Given the description of an element on the screen output the (x, y) to click on. 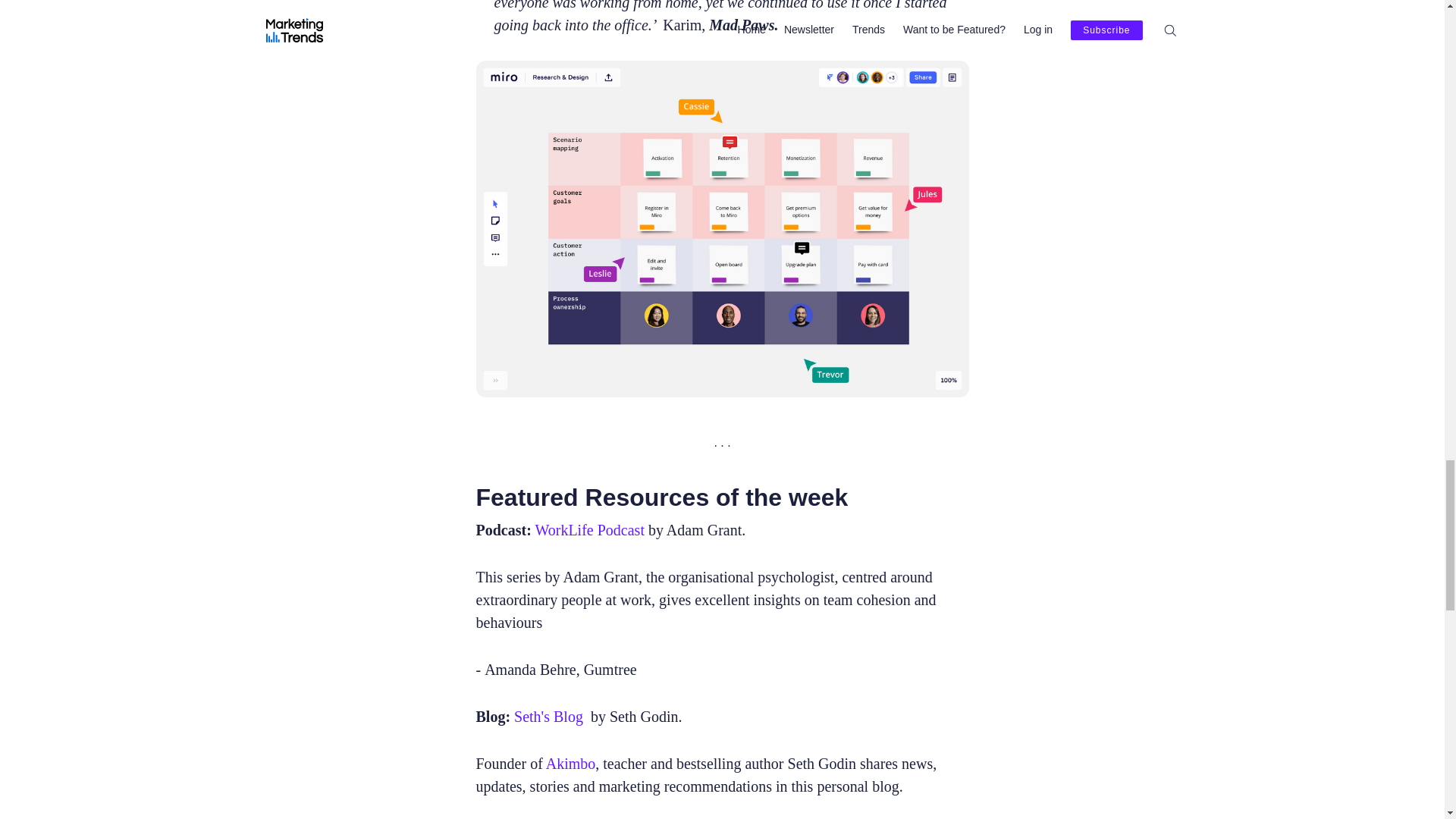
Seth's Blog (548, 716)
Akimbo (570, 763)
WorkLife Podcast (588, 529)
